Given the description of an element on the screen output the (x, y) to click on. 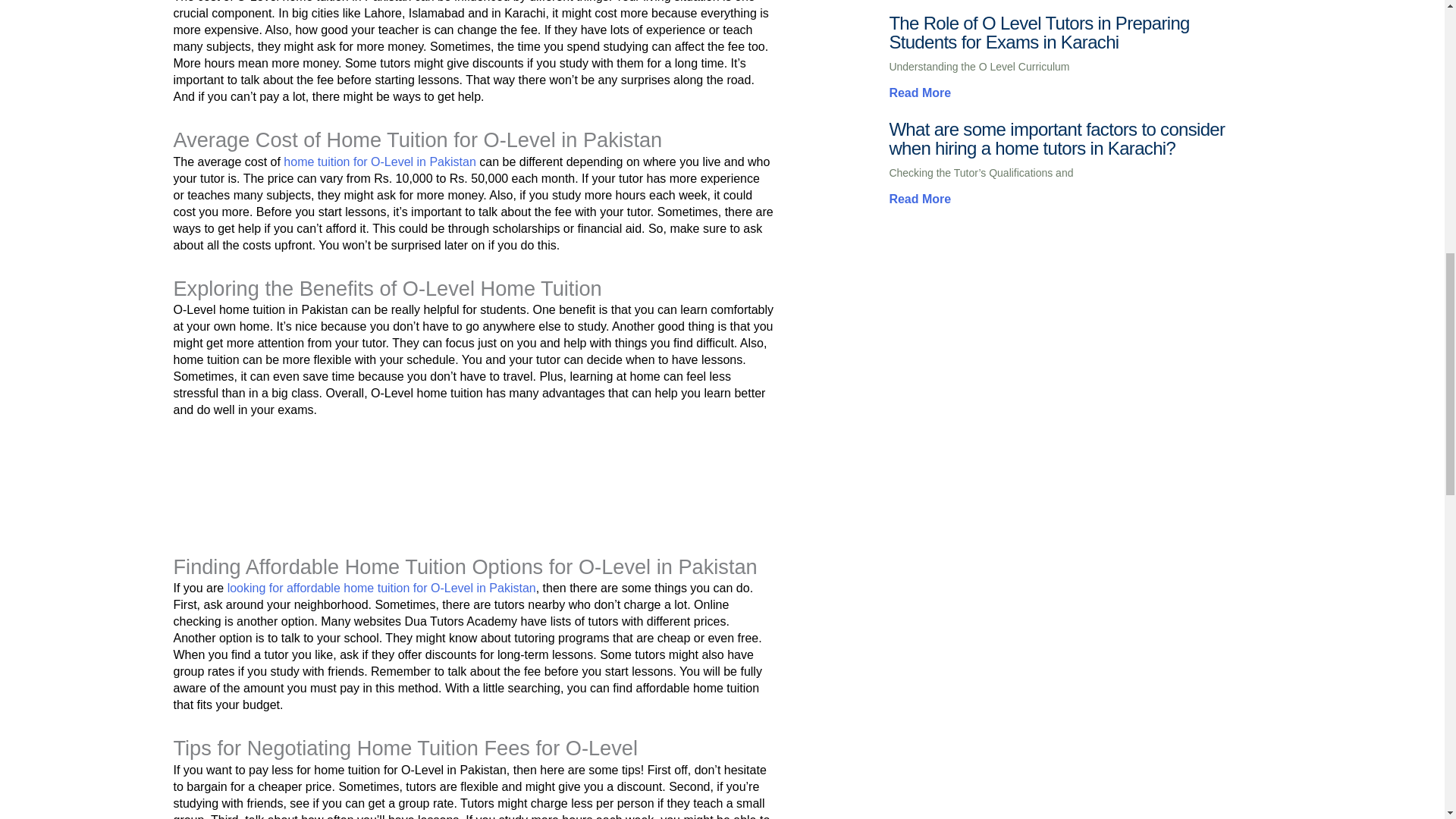
Read More (919, 198)
looking for affordable home tuition for O-Level in Pakistan (381, 587)
home tuition for O-Level in Pakistan (379, 161)
Read More (919, 92)
